Given the description of an element on the screen output the (x, y) to click on. 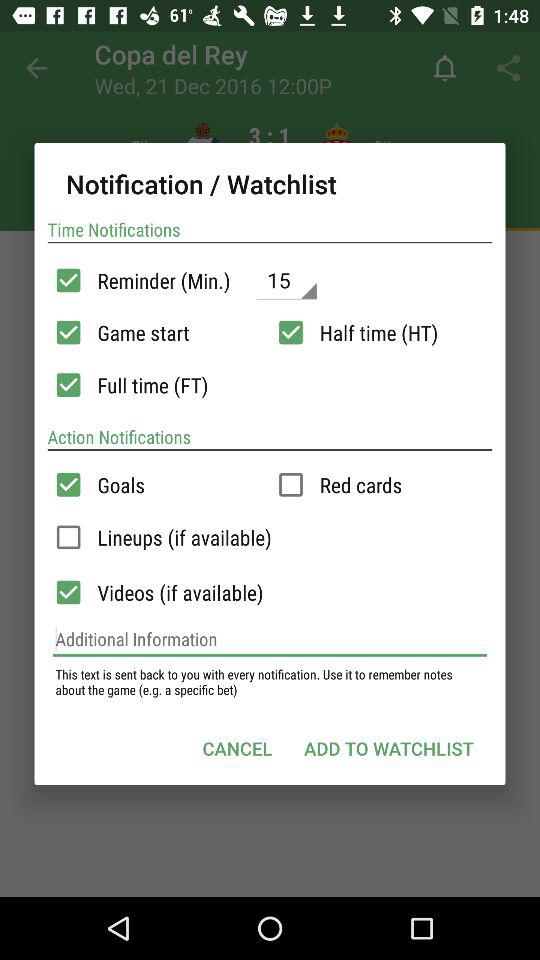
uncheck settings (290, 332)
